Given the description of an element on the screen output the (x, y) to click on. 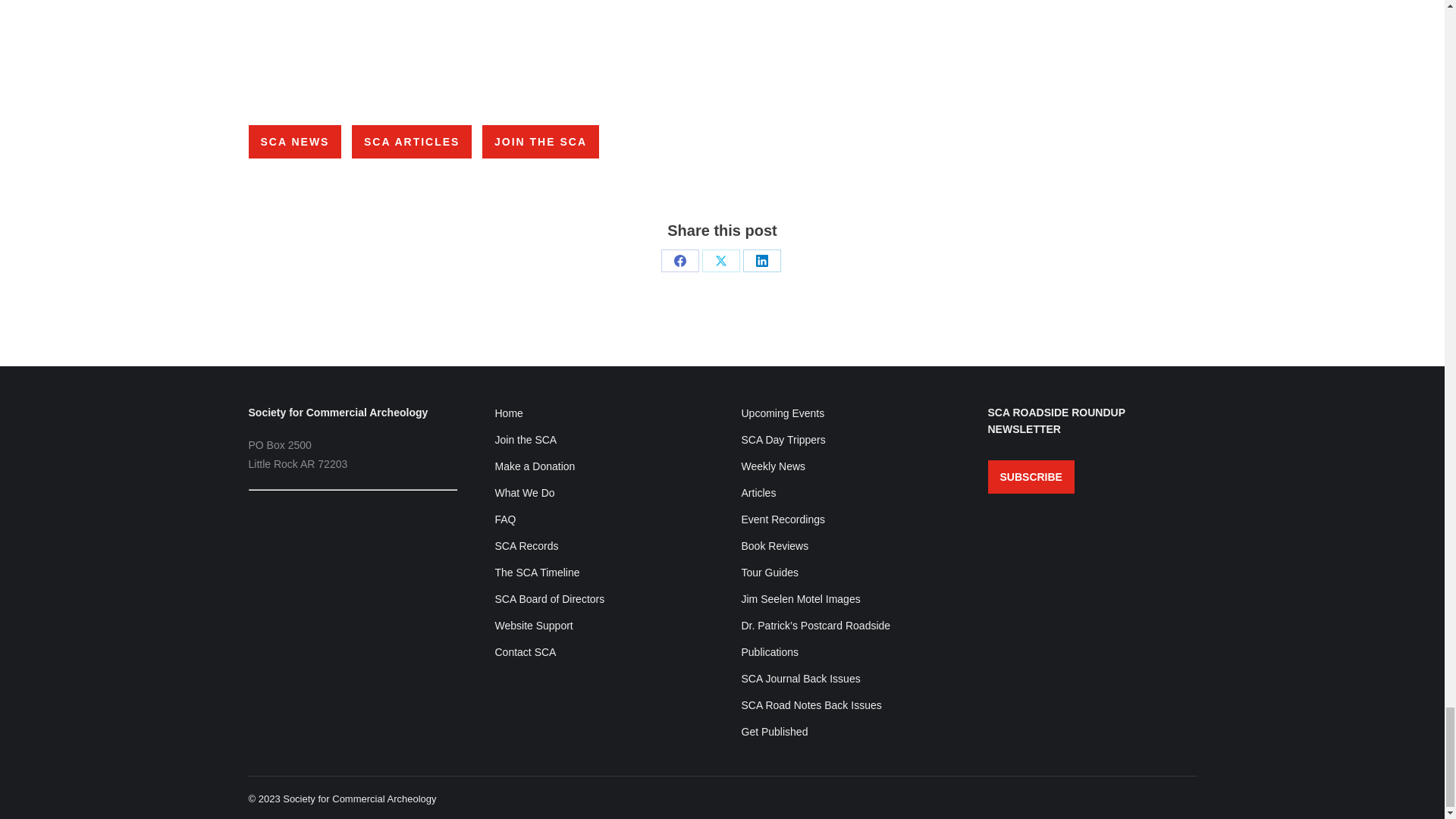
Facebook (679, 260)
LinkedIn (761, 260)
X (720, 260)
